Given the description of an element on the screen output the (x, y) to click on. 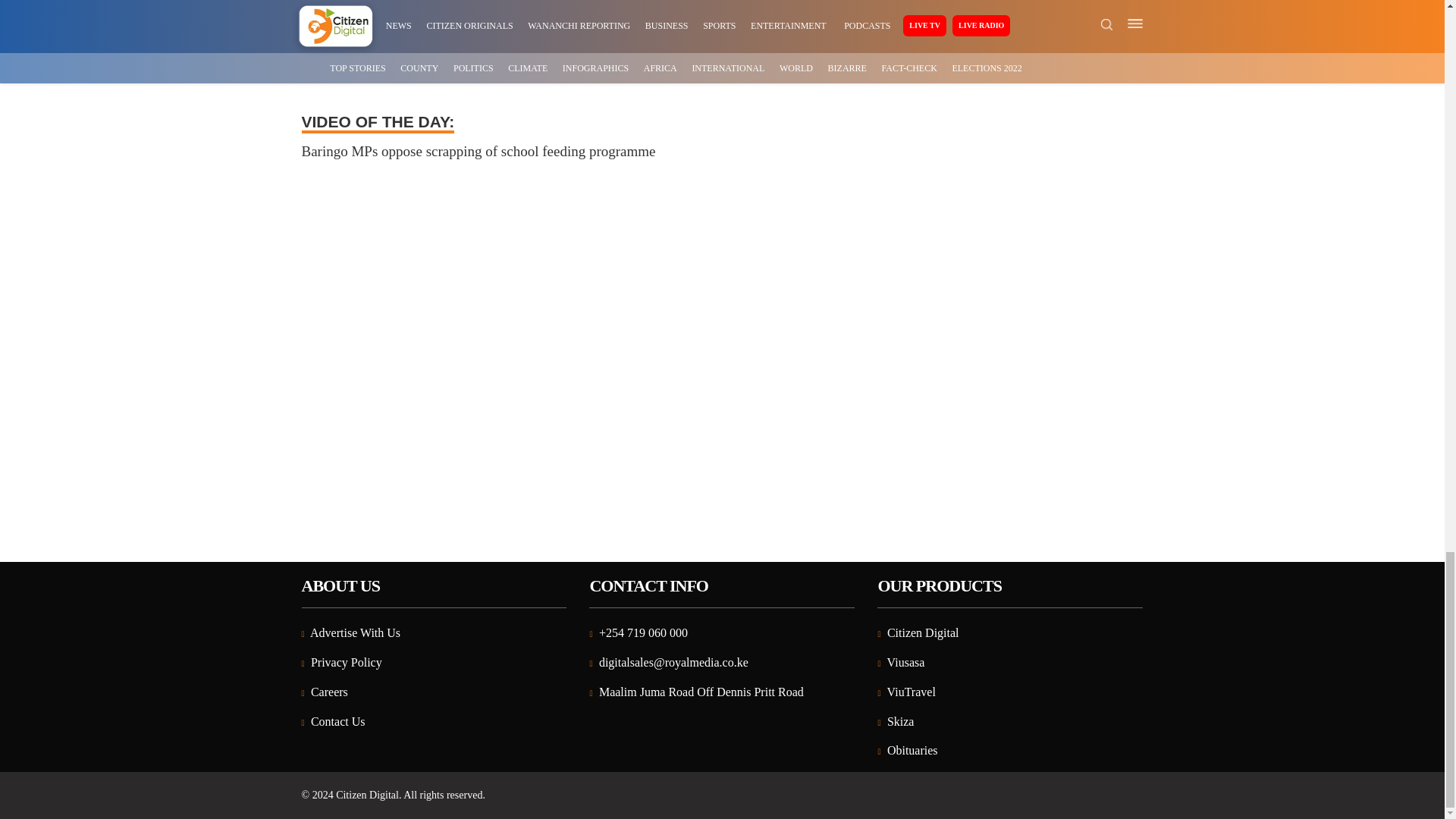
Submit (338, 5)
Submit (338, 5)
